Given the description of an element on the screen output the (x, y) to click on. 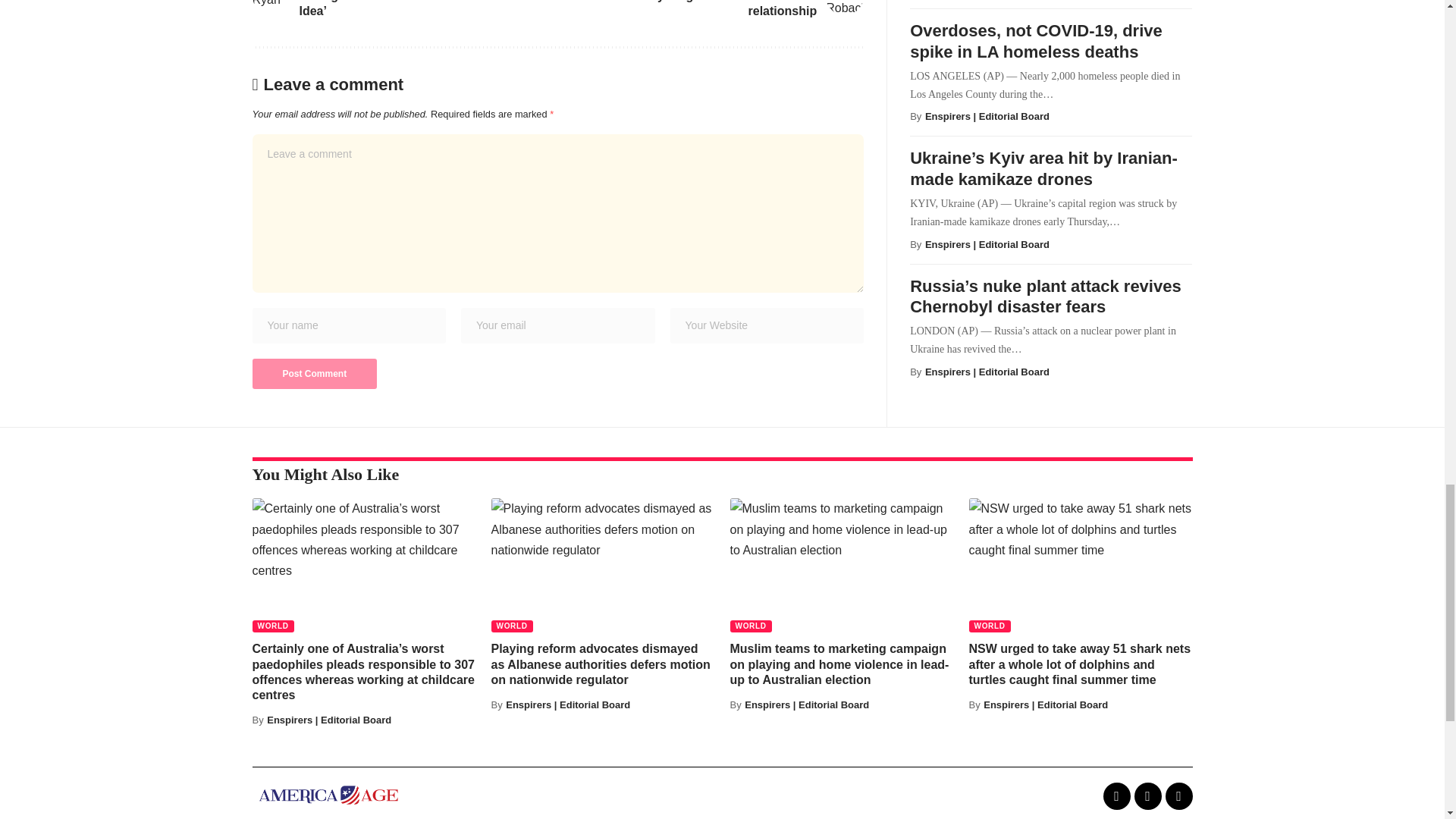
Post Comment (314, 373)
